Given the description of an element on the screen output the (x, y) to click on. 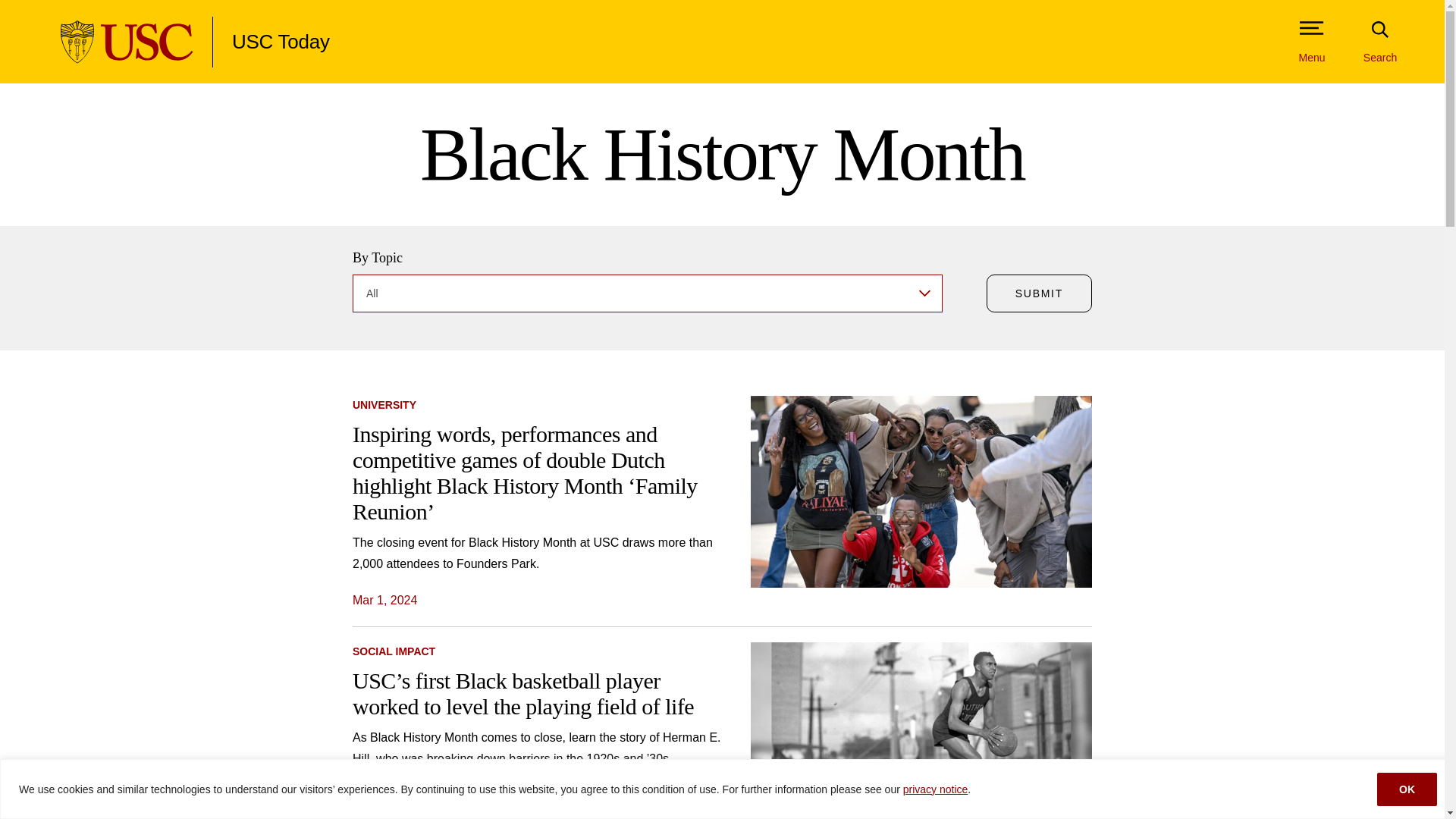
OK (1407, 788)
USC Today (280, 42)
privacy notice (935, 788)
